Given the description of an element on the screen output the (x, y) to click on. 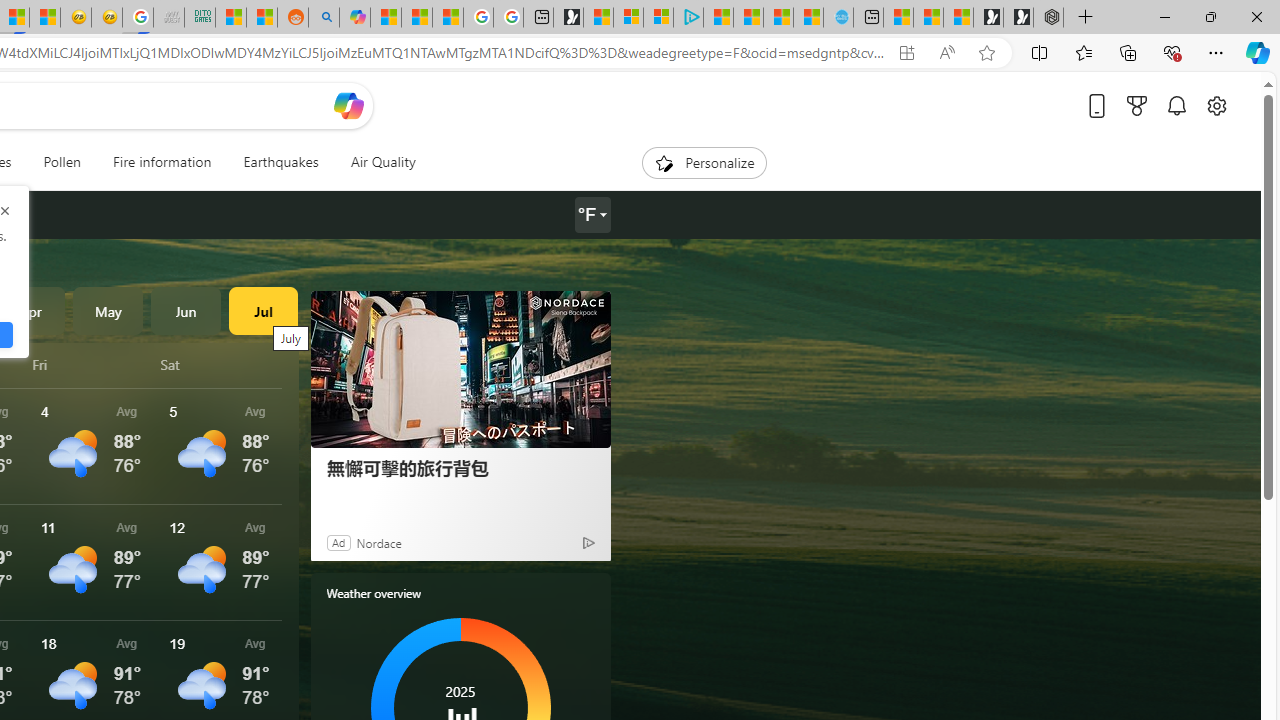
Open settings (1216, 105)
Utah sues federal government - Search (323, 17)
Jun (186, 310)
Play Free Online Games | Games from Microsoft Start (1017, 17)
Air Quality (375, 162)
Navy Quest (168, 17)
Microsoft Start Gaming (568, 17)
Open Copilot (347, 105)
Fire information (161, 162)
See More Details (221, 561)
